Given the description of an element on the screen output the (x, y) to click on. 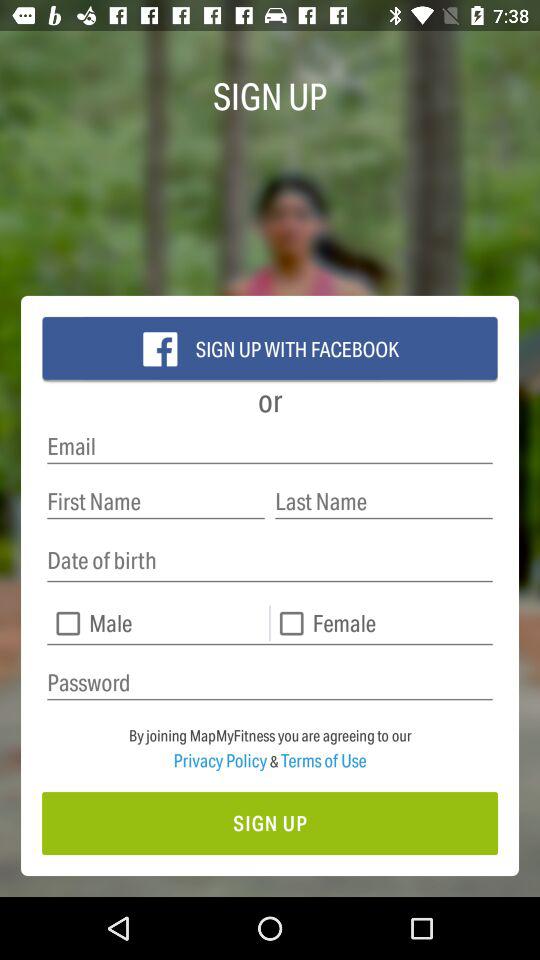
sign up email (270, 446)
